Given the description of an element on the screen output the (x, y) to click on. 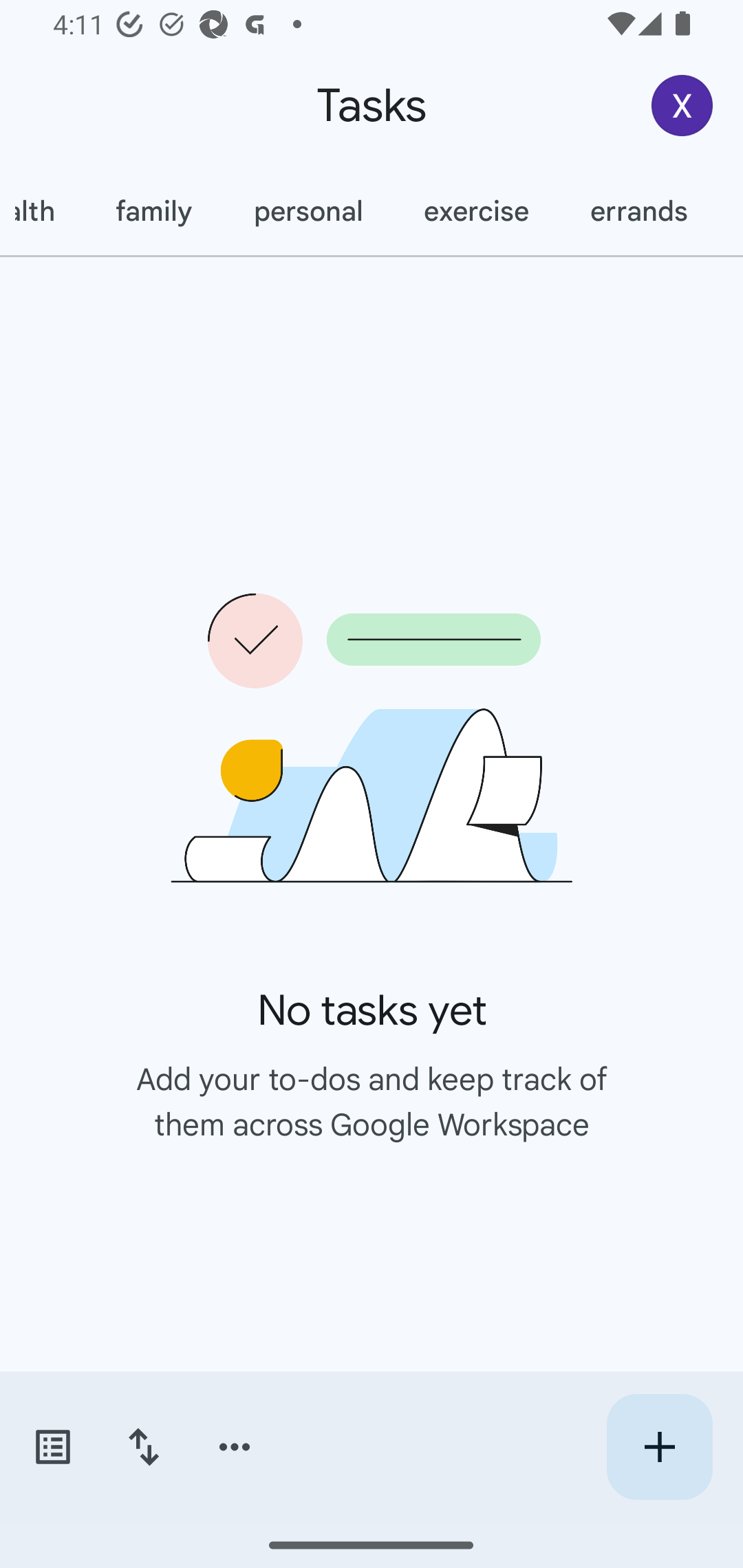
health (42, 211)
family (153, 211)
personal (307, 211)
exercise (476, 211)
errands (638, 211)
Switch task lists (52, 1447)
Create new task (659, 1446)
Change sort order (143, 1446)
More options (234, 1446)
